Given the description of an element on the screen output the (x, y) to click on. 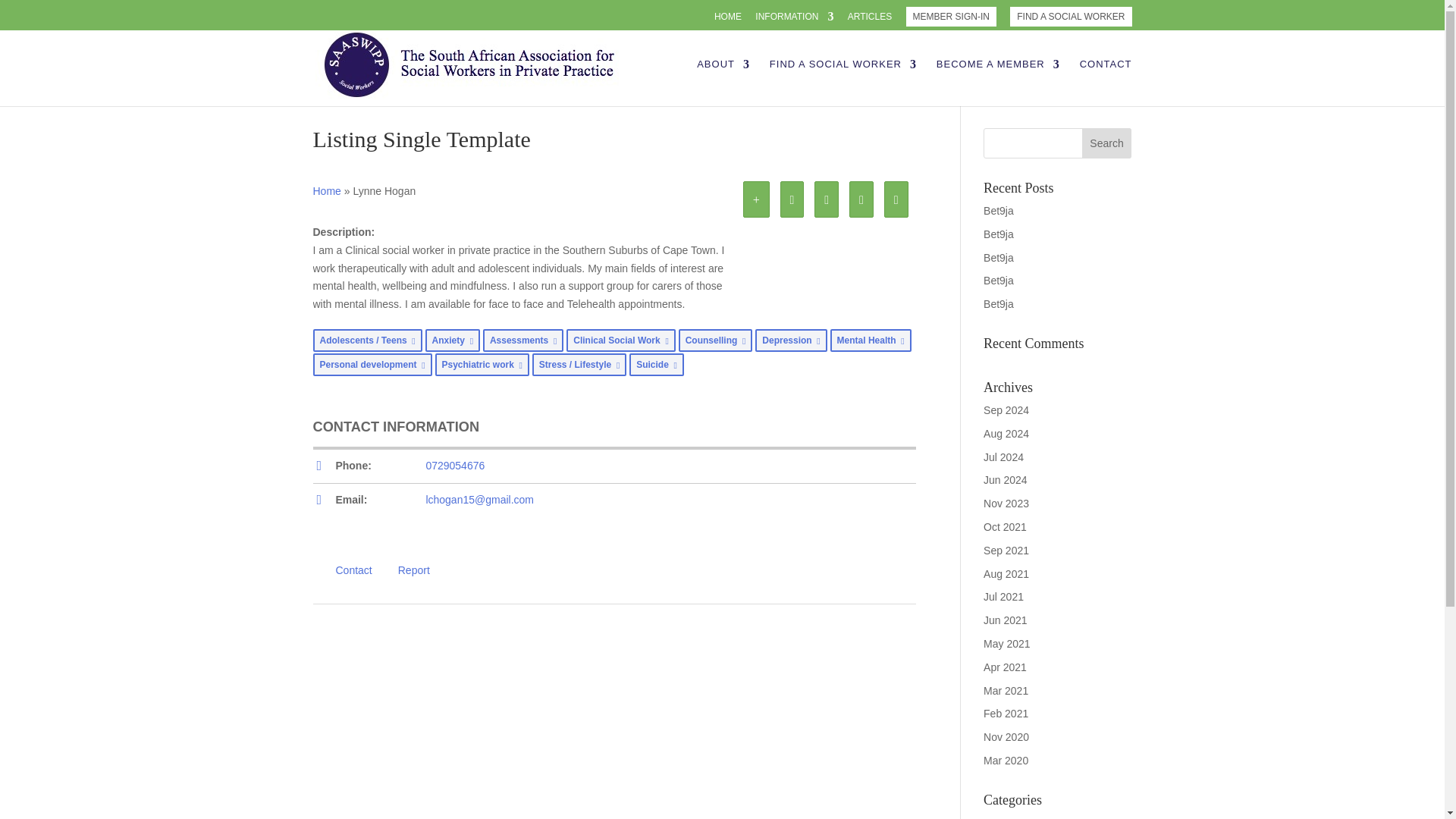
CONTACT (1106, 82)
MEMBER SIGN-IN (950, 16)
Suicide   (656, 363)
INFORMATION (793, 19)
Psychiatric work   (482, 363)
ARTICLES (869, 19)
Personal development   (371, 363)
Search (1106, 142)
Home (326, 191)
FIND A SOCIAL WORKER (1070, 16)
